Given the description of an element on the screen output the (x, y) to click on. 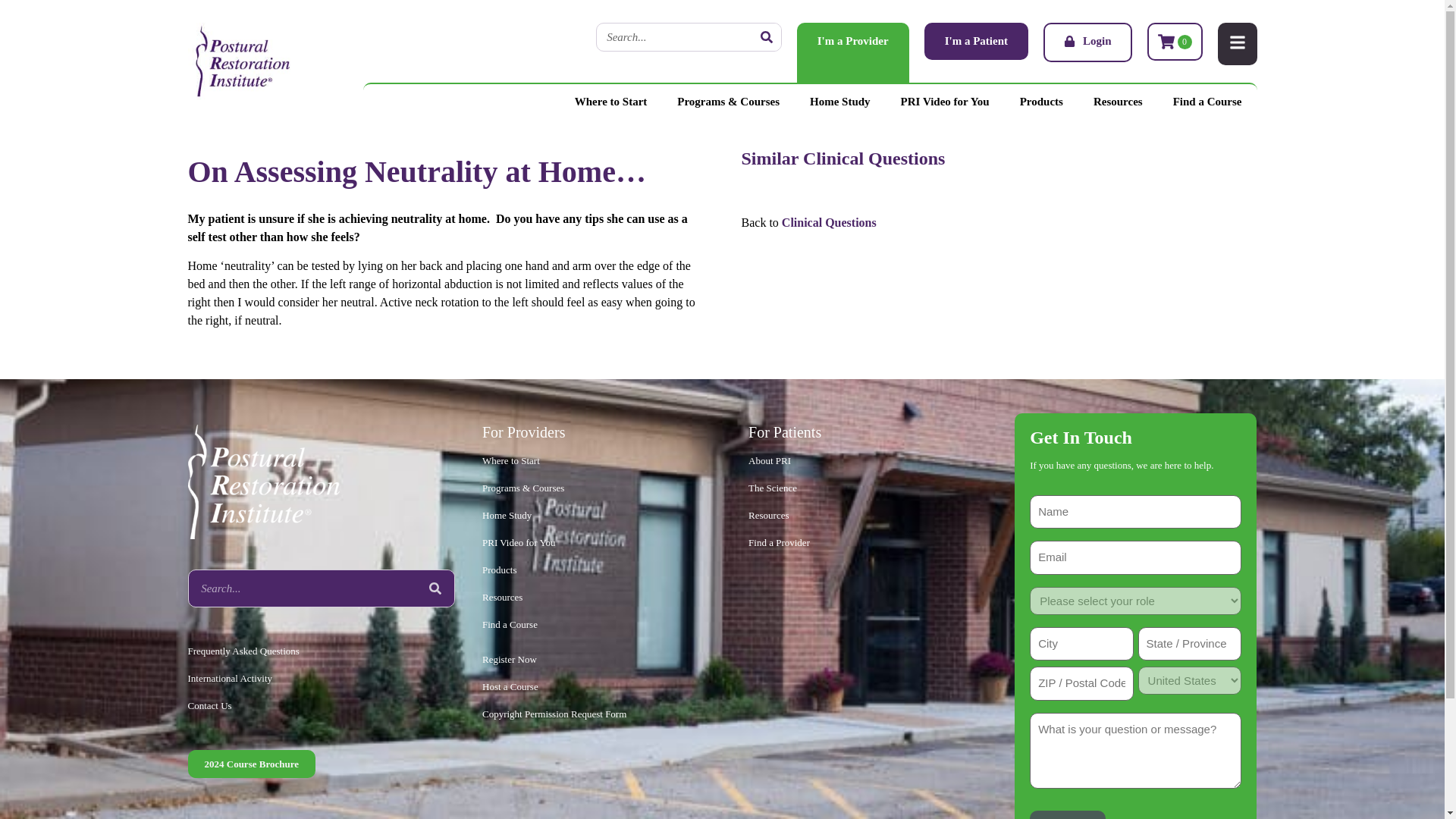
Products (1041, 101)
Login (1087, 42)
PRI Video for You (944, 101)
I'm a Provider (852, 52)
Resources (1117, 101)
Submit (1067, 814)
I'm a Patient (975, 40)
Home Study (839, 101)
View your shopping cart (1174, 41)
Find a Course (1207, 101)
Where to Start (610, 101)
0 (1174, 41)
